Given the description of an element on the screen output the (x, y) to click on. 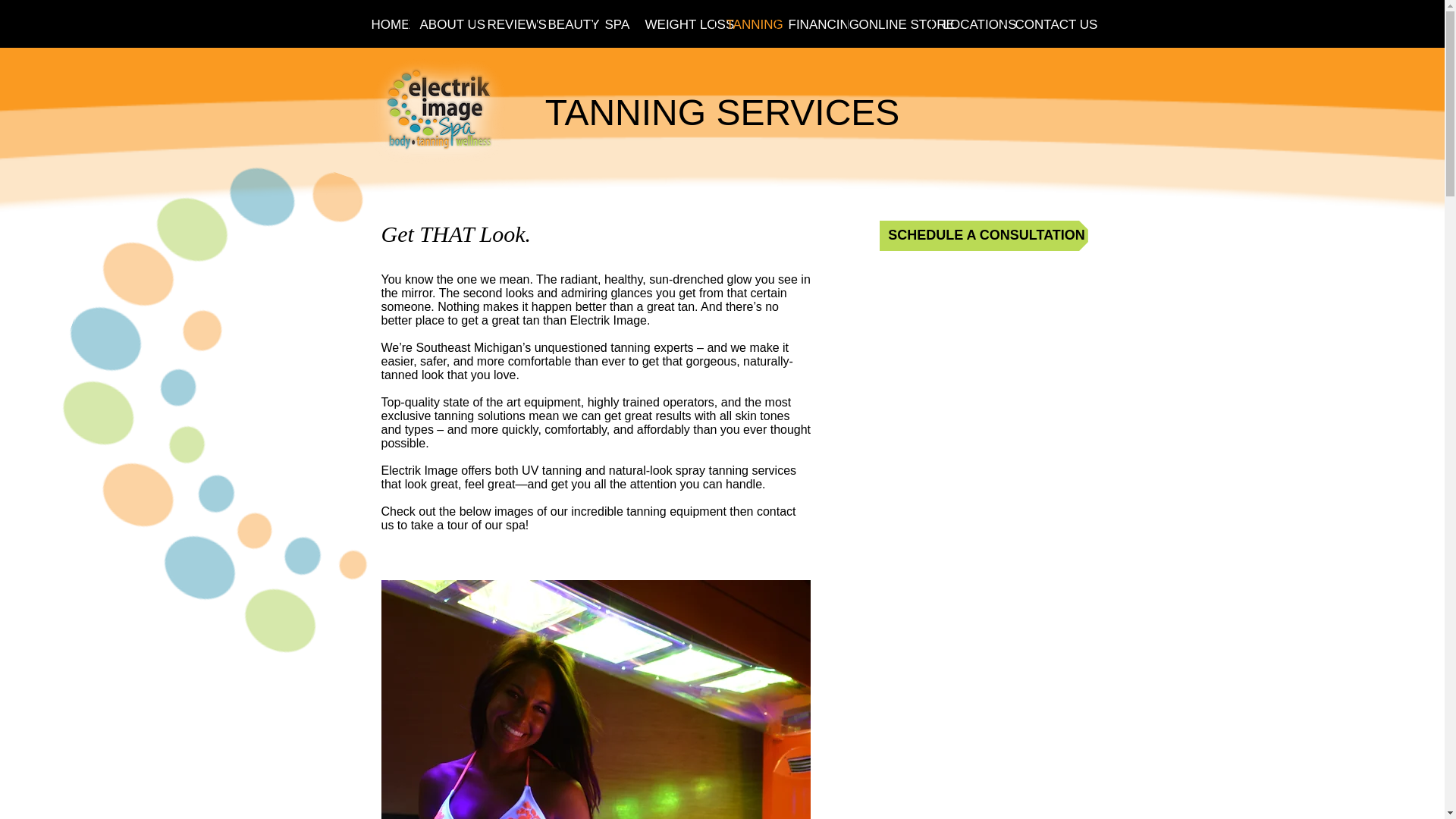
HOME (383, 24)
CONTACT US (1042, 24)
LOCATIONS (967, 24)
CALL US NOW (18, 13)
WEIGHT LOSS (673, 24)
FINANCING (810, 24)
ABOUT US (440, 24)
ONLINE STORE (889, 24)
3D EI LOGO.png (437, 112)
REVIEWS (505, 24)
